Given the description of an element on the screen output the (x, y) to click on. 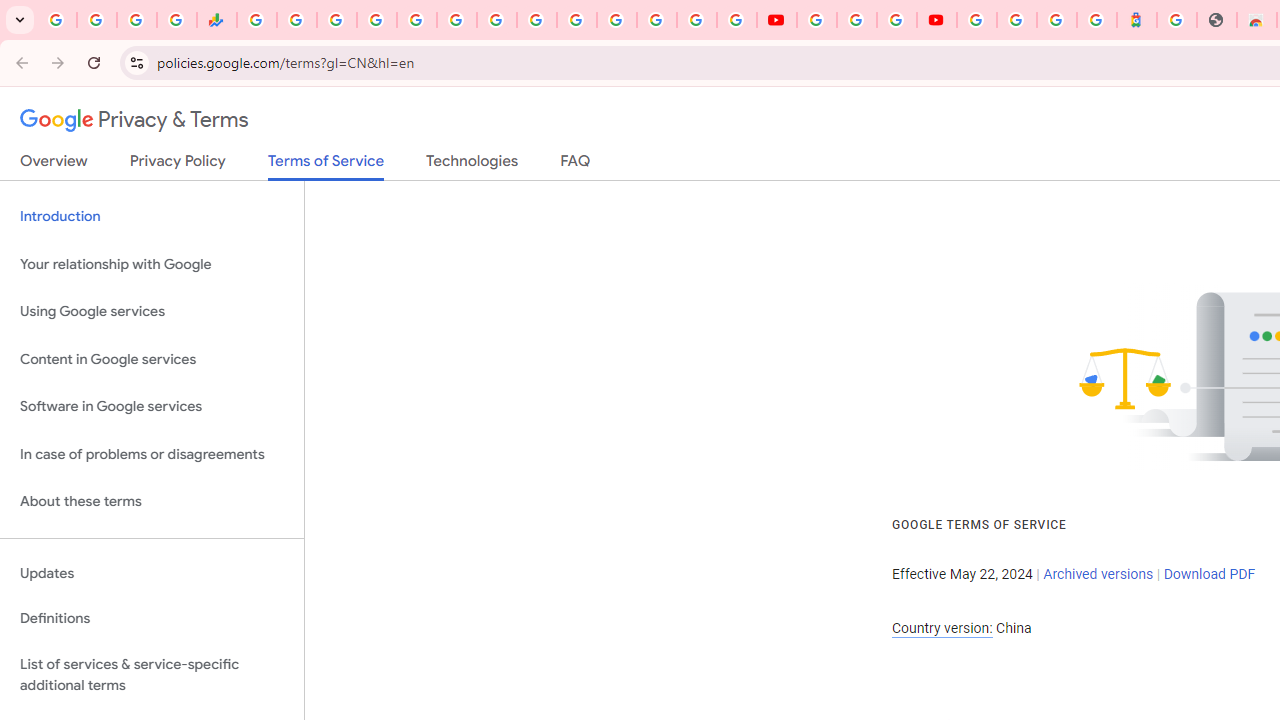
Android TV Policies and Guidelines - Transparency Center (497, 20)
Sign in - Google Accounts (576, 20)
YouTube (817, 20)
Create your Google Account (896, 20)
Software in Google services (152, 407)
Atour Hotel - Google hotels (1137, 20)
